Given the description of an element on the screen output the (x, y) to click on. 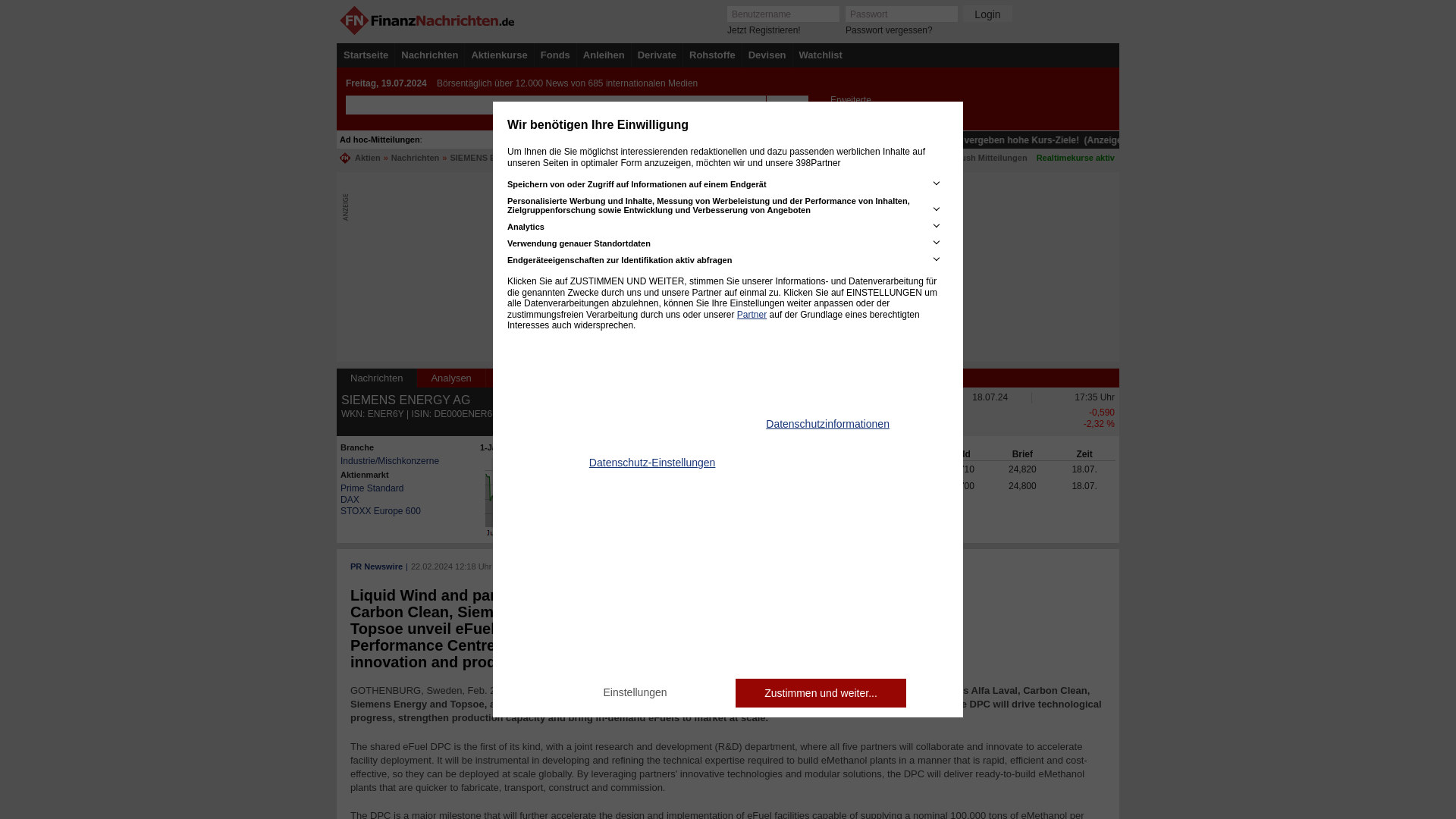
Jetzt Registrieren! (763, 30)
Startseite (365, 55)
Suchen (786, 104)
Login (986, 13)
Nachrichten (429, 55)
Passwort vergessen? (889, 30)
